Given the description of an element on the screen output the (x, y) to click on. 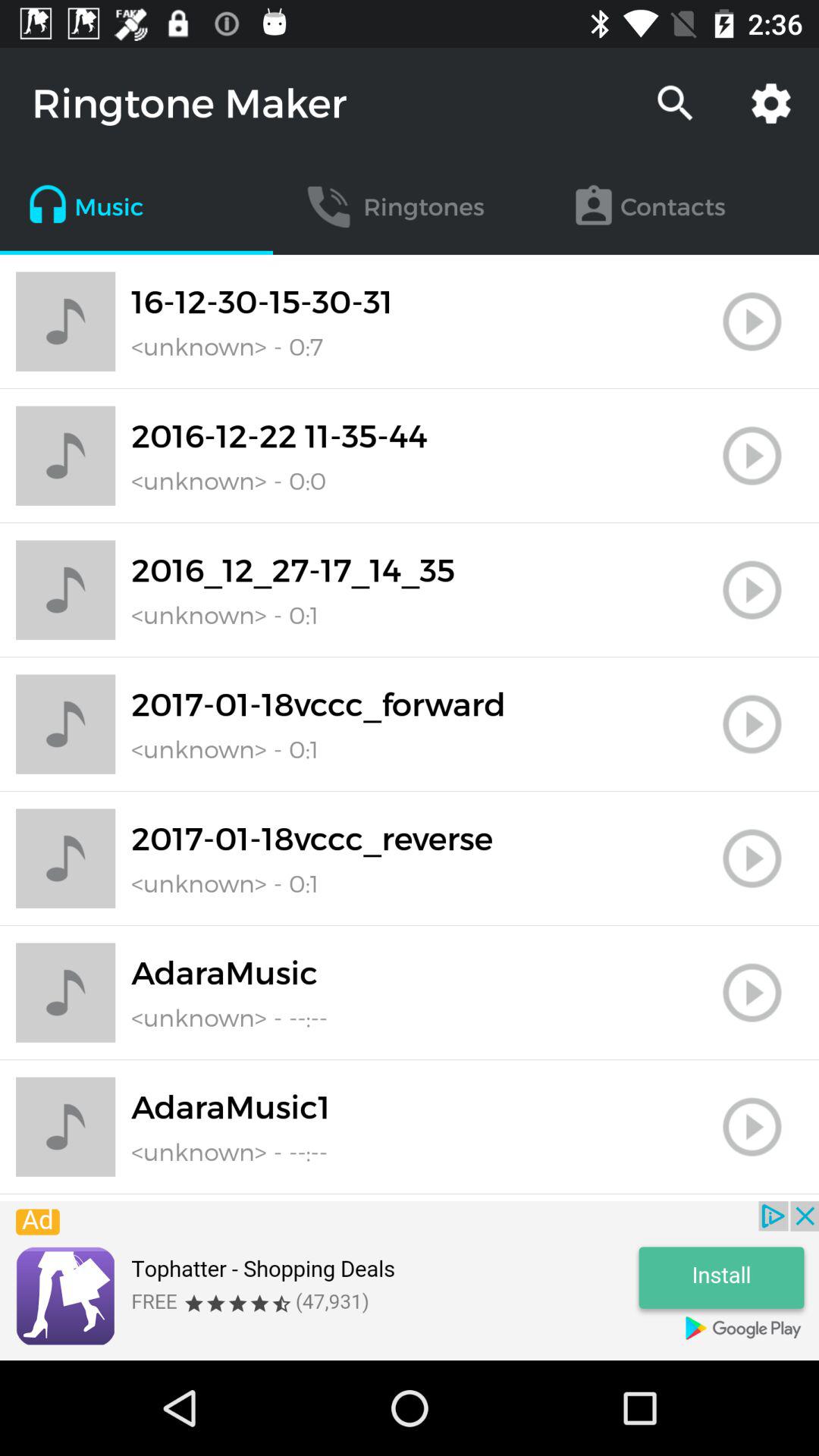
switch play button (752, 590)
